Given the description of an element on the screen output the (x, y) to click on. 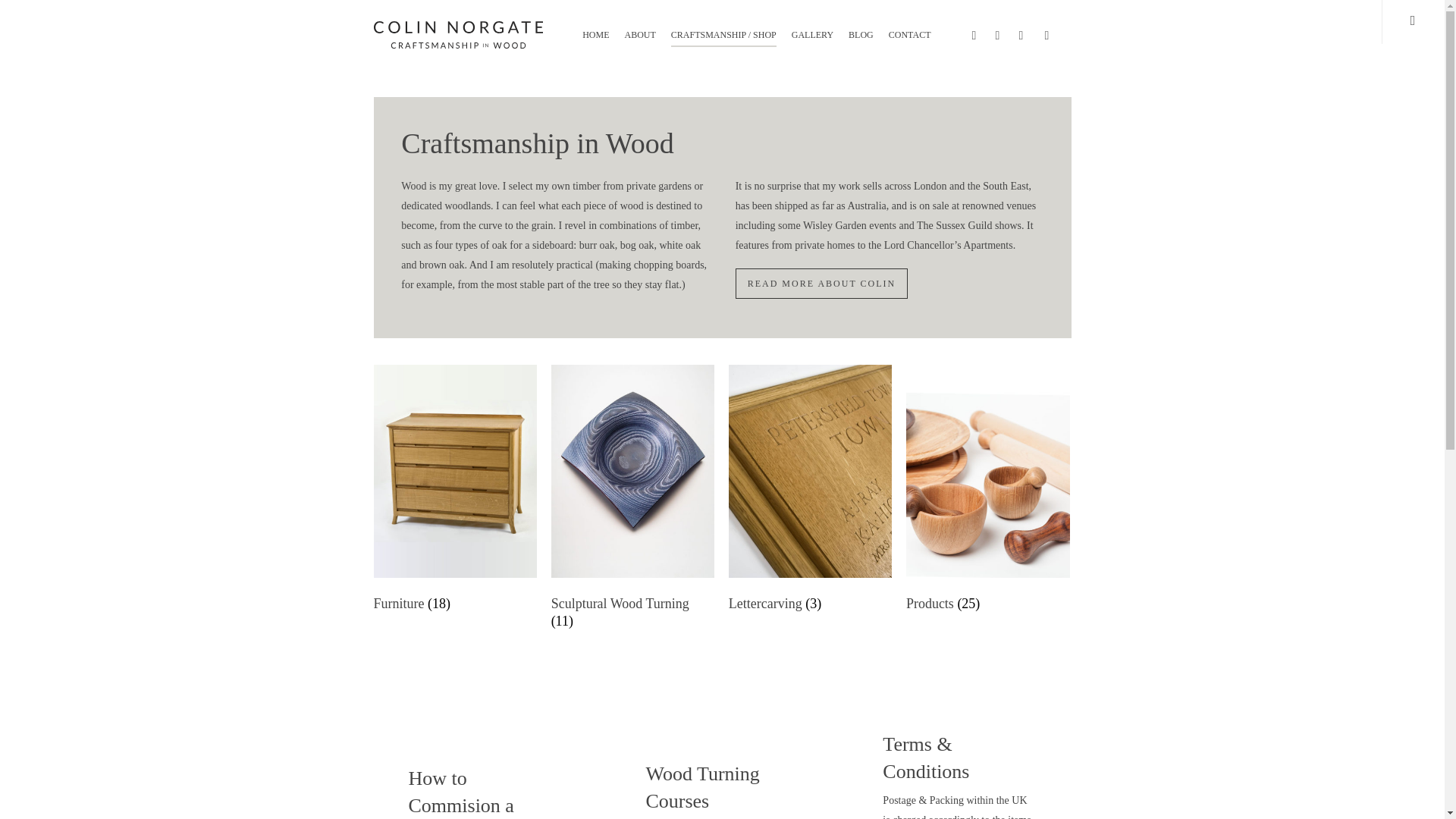
READ MORE ABOUT COLIN (821, 283)
